Given the description of an element on the screen output the (x, y) to click on. 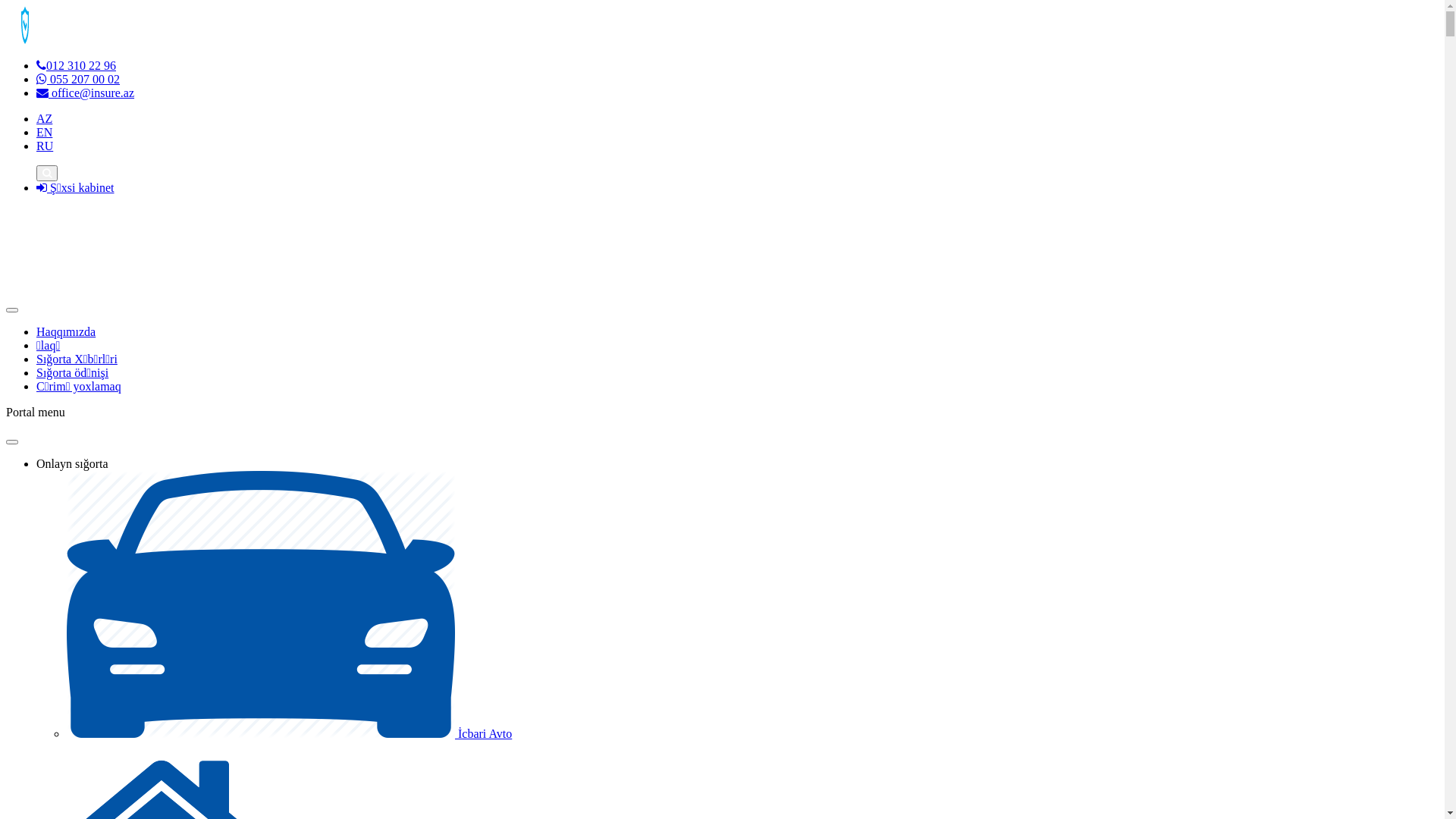
EN Element type: text (44, 131)
RU Element type: text (44, 145)
AZ Element type: text (44, 118)
office@insure.az Element type: text (85, 92)
Toggle navigation Element type: text (12, 309)
012 310 22 96 Element type: text (76, 65)
055 207 00 02 Element type: text (77, 78)
Toggle navigation Element type: text (12, 441)
